Given the description of an element on the screen output the (x, y) to click on. 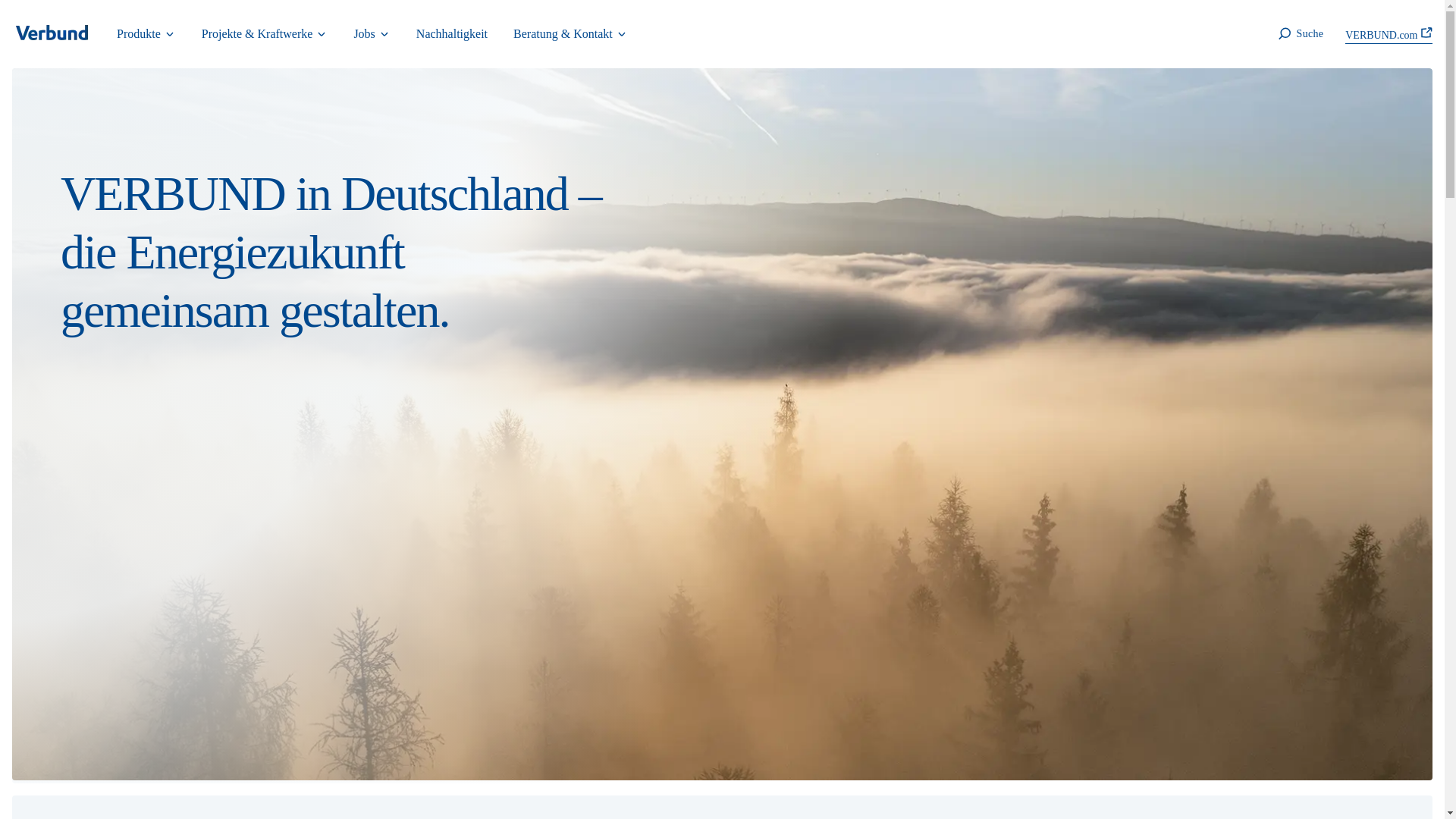
Produkte (146, 34)
VERBUND.com (1388, 33)
Nachhaltigkeit (451, 34)
Suche (1299, 34)
Jobs (371, 34)
